Given the description of an element on the screen output the (x, y) to click on. 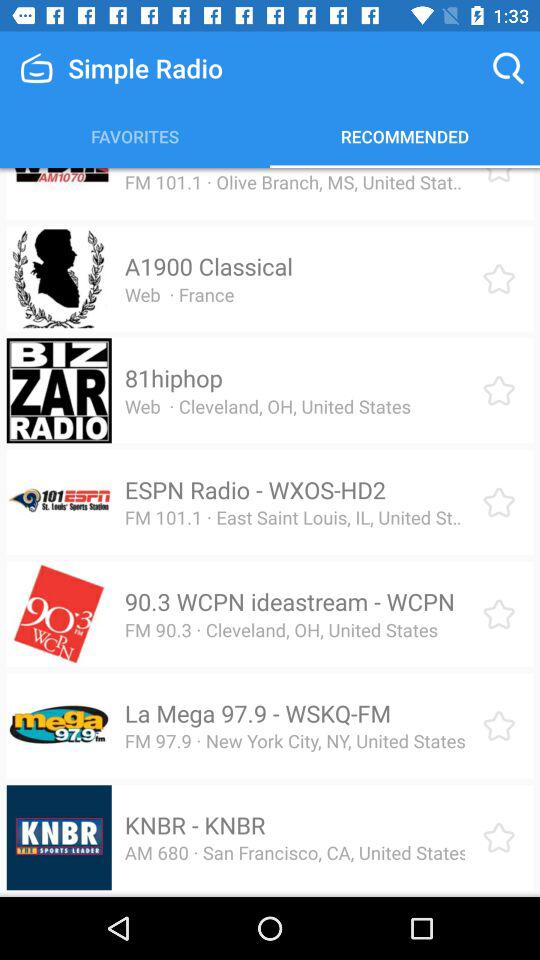
press icon below favorites (249, 168)
